Given the description of an element on the screen output the (x, y) to click on. 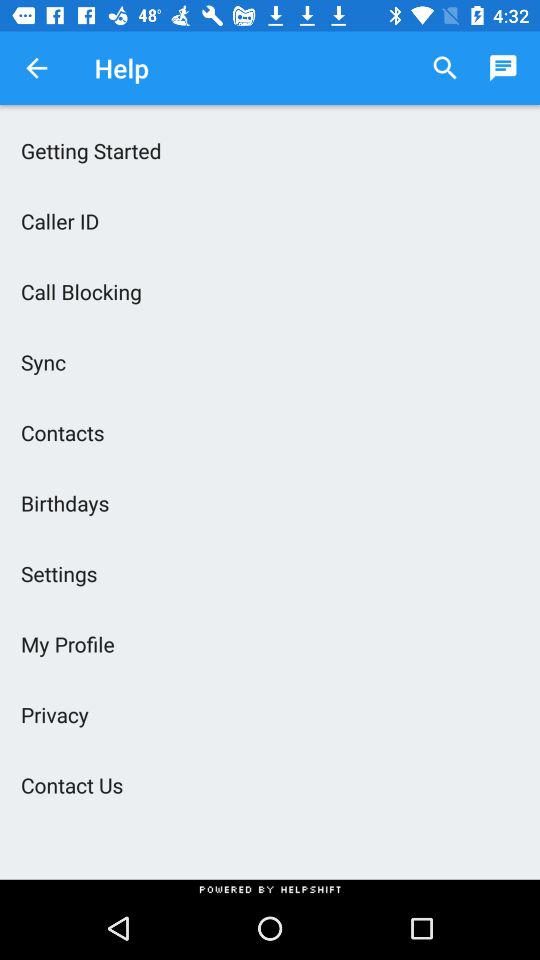
launch the icon above contacts item (270, 361)
